Given the description of an element on the screen output the (x, y) to click on. 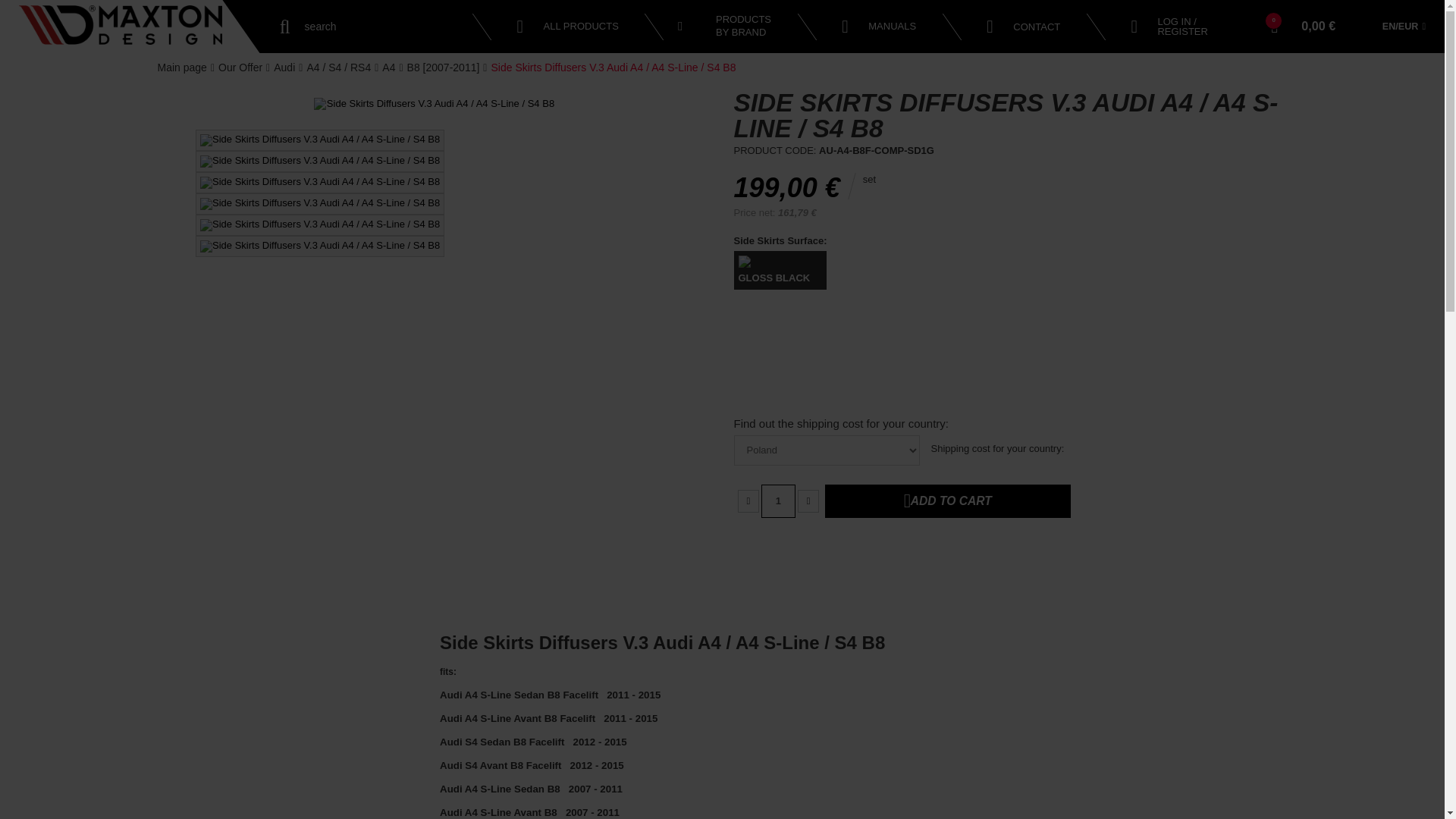
Add 1 item to shopping basket (947, 500)
REGISTER (1182, 31)
Audi (729, 26)
All products (284, 67)
Main page (567, 26)
MANUALS (181, 67)
Contact (878, 26)
ALL PRODUCTS (1023, 26)
1 (567, 26)
